Given the description of an element on the screen output the (x, y) to click on. 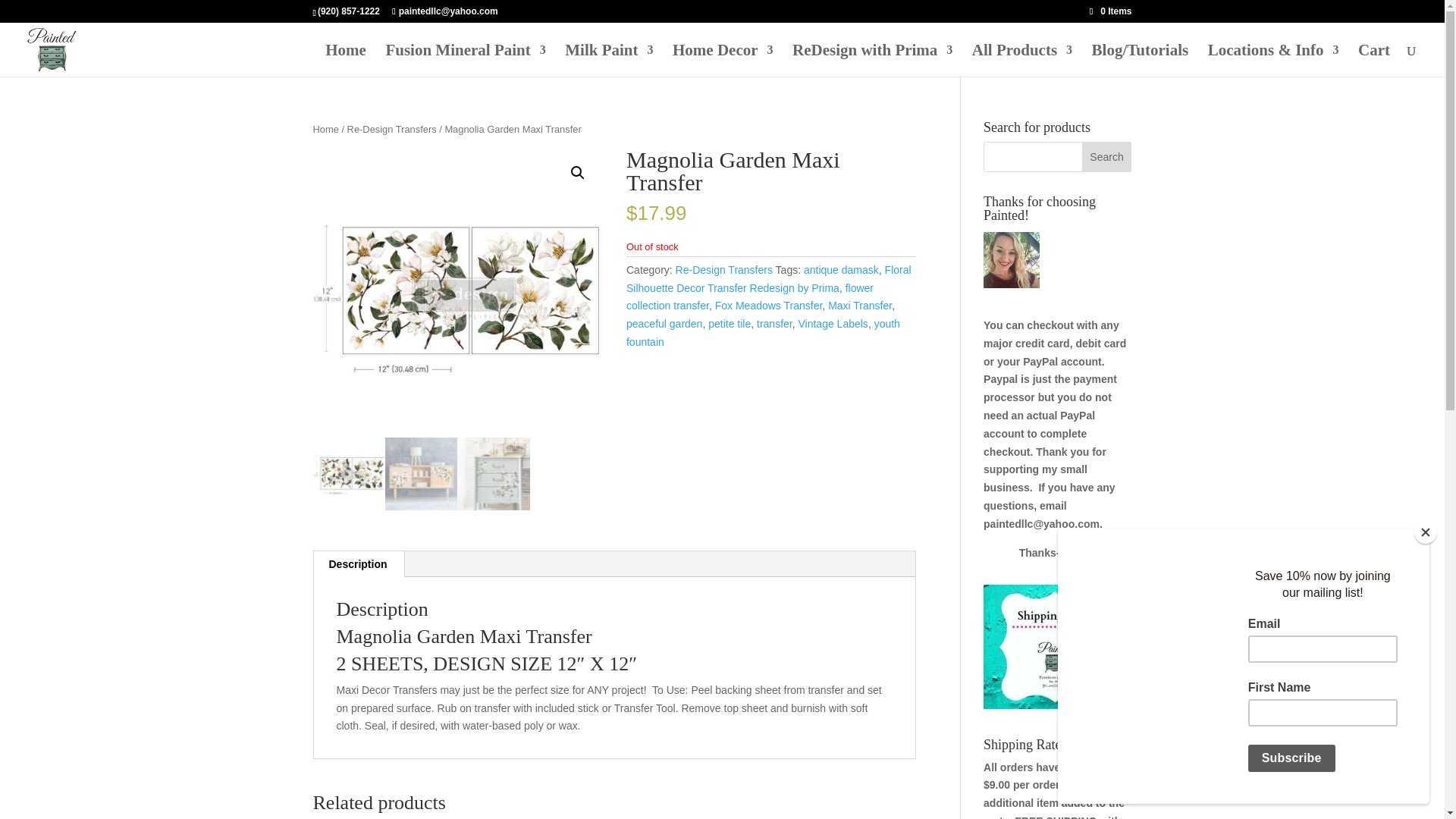
ReDesign with Prima (872, 60)
0 Items (1110, 10)
Milk Paint (608, 60)
Your shopping cart at Painted (1374, 60)
Home Decor (722, 60)
Home all about Painted (345, 60)
Home (345, 60)
All Products (1021, 60)
magnolia garden maxi transfer prima (457, 293)
Contact Painted (1273, 60)
Search (1106, 156)
Fusion Mineral Paint (464, 60)
